Given the description of an element on the screen output the (x, y) to click on. 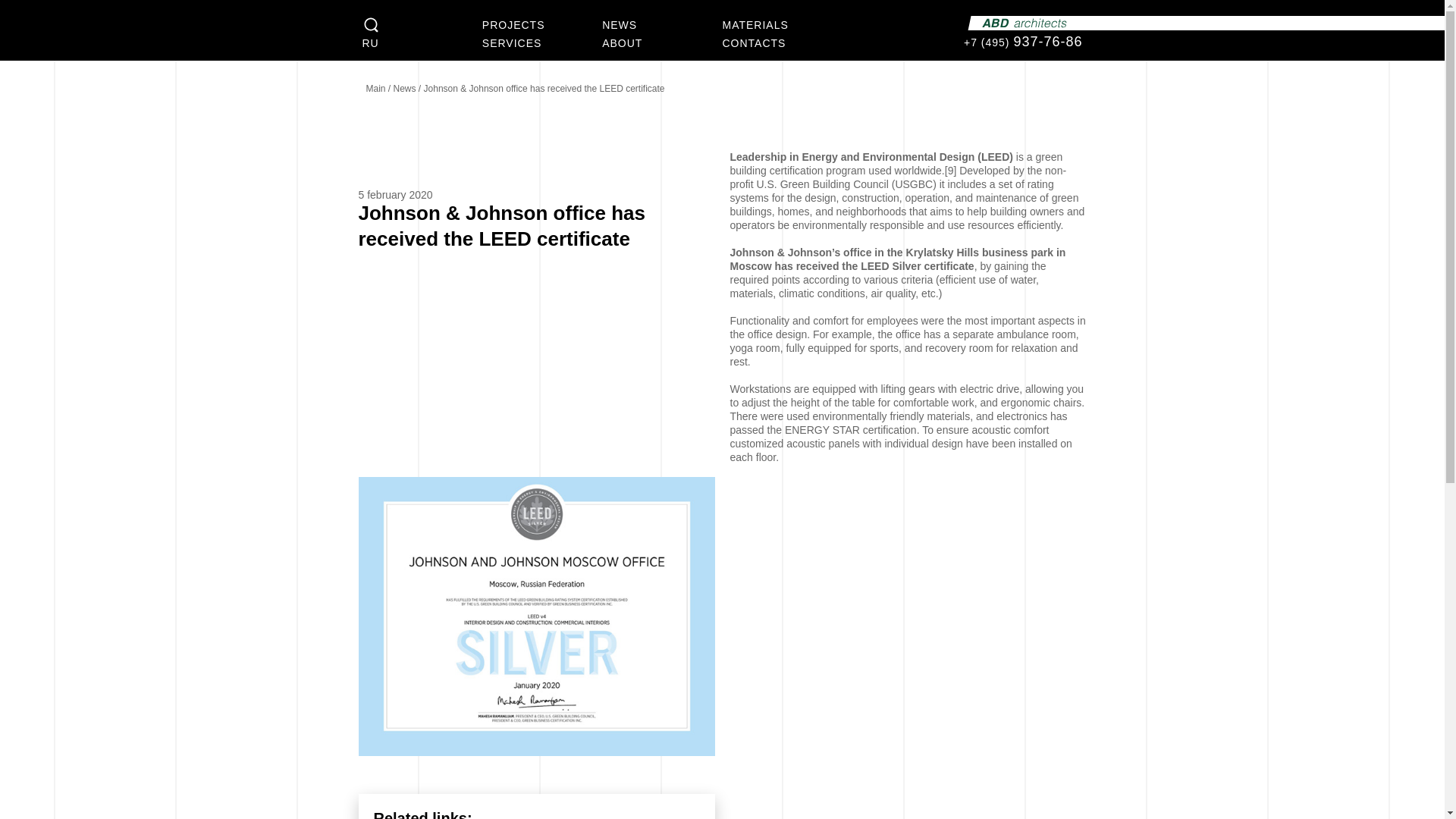
ABOUT (662, 43)
PROJECTS (541, 24)
Main (376, 88)
SERVICES (541, 43)
Main (376, 88)
News (406, 88)
MATERIALS (781, 24)
CONTACTS (781, 43)
RU (421, 43)
News (406, 88)
NEWS (662, 24)
